Given the description of an element on the screen output the (x, y) to click on. 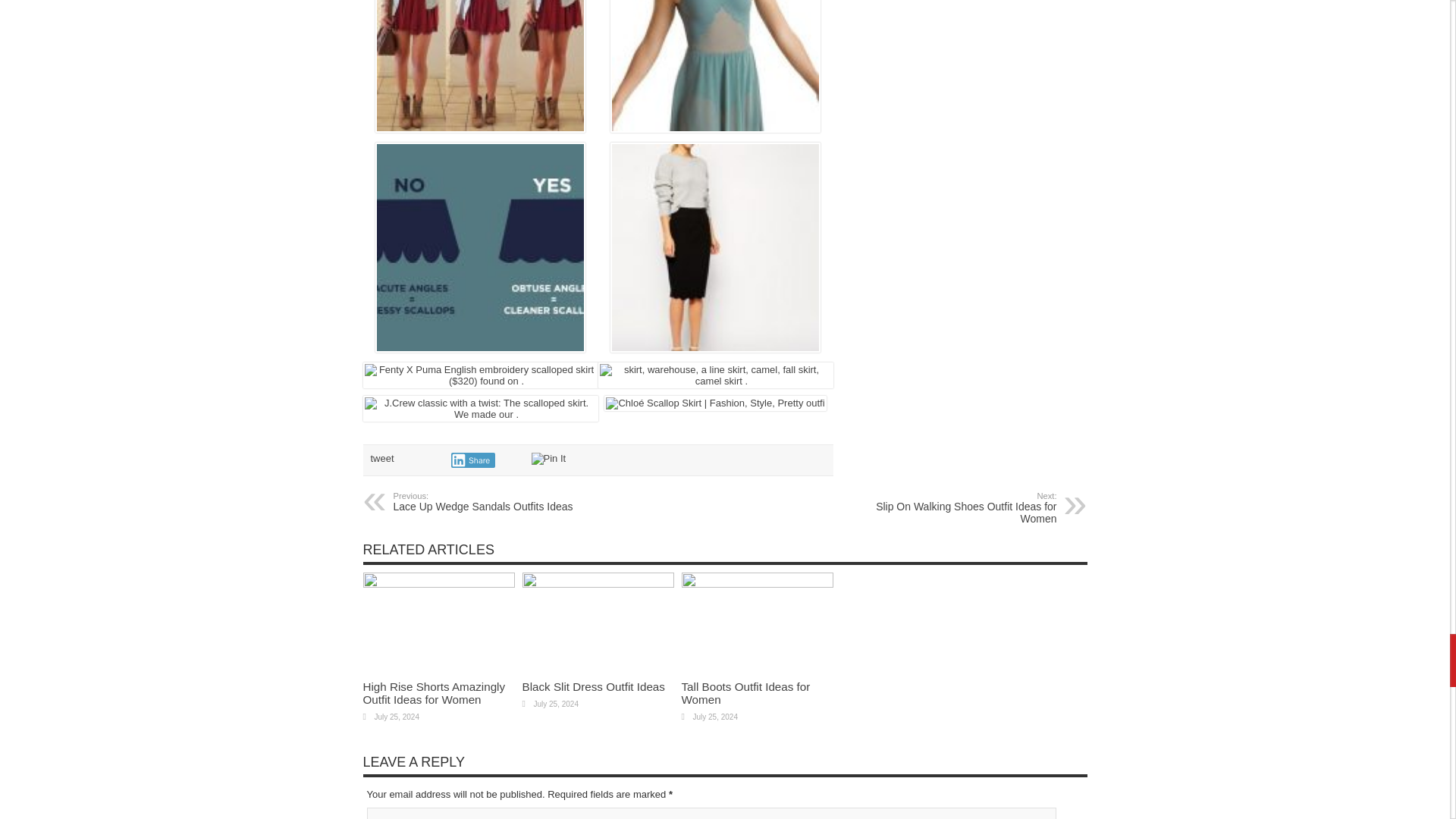
Black Slit Dress Outfit Ideas (592, 686)
Pin It (548, 458)
Tall Boots Outfit Ideas for Women (745, 692)
Permalink to Black Slit Dress Outfit Ideas (745, 692)
Permalink to Black Slit Dress Outfit Ideas (592, 686)
tweet (963, 507)
Share (596, 583)
High Rise Shorts Amazingly Outfit Ideas for Women (485, 501)
